Given the description of an element on the screen output the (x, y) to click on. 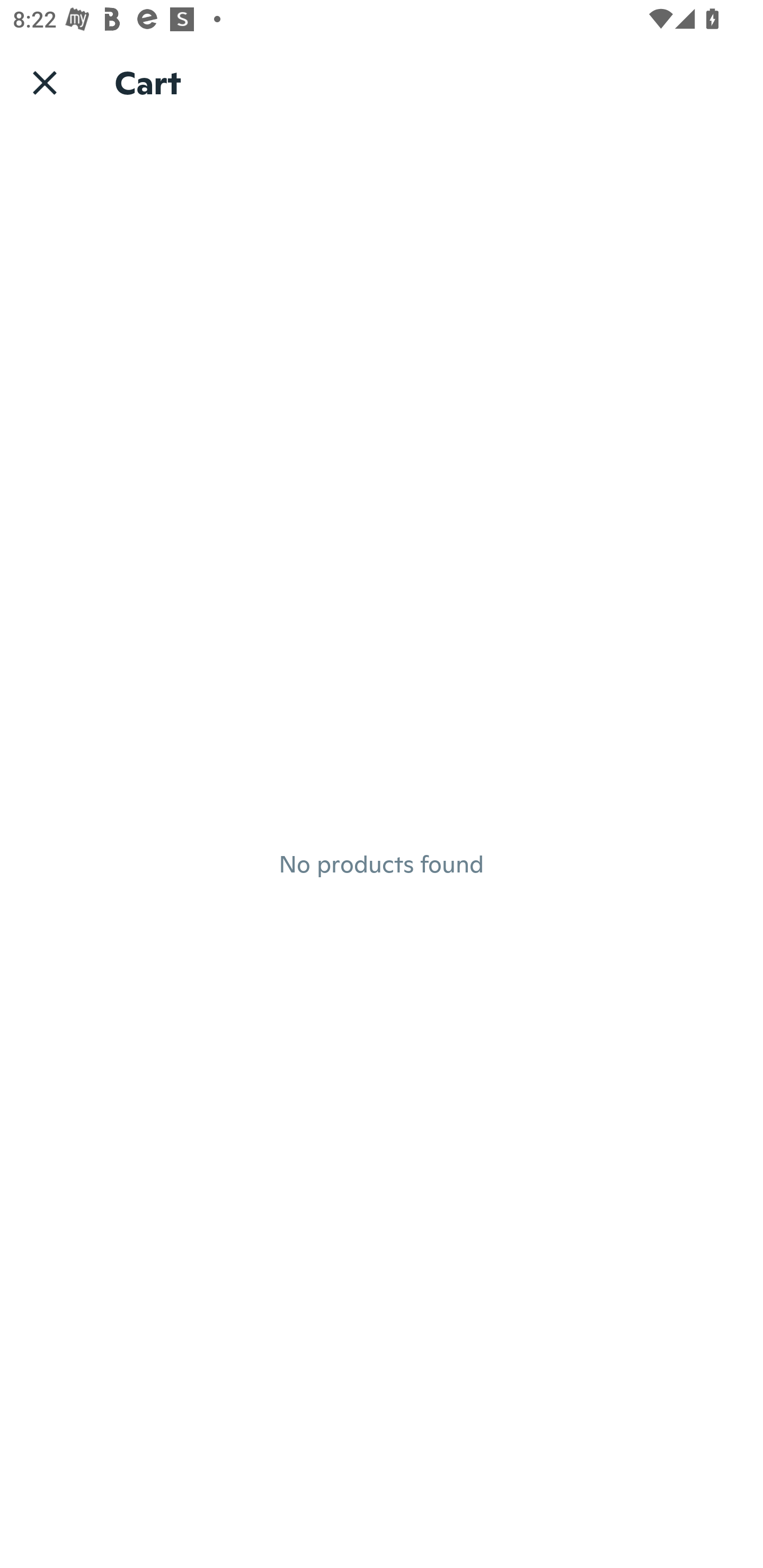
Navigate up (44, 82)
